Given the description of an element on the screen output the (x, y) to click on. 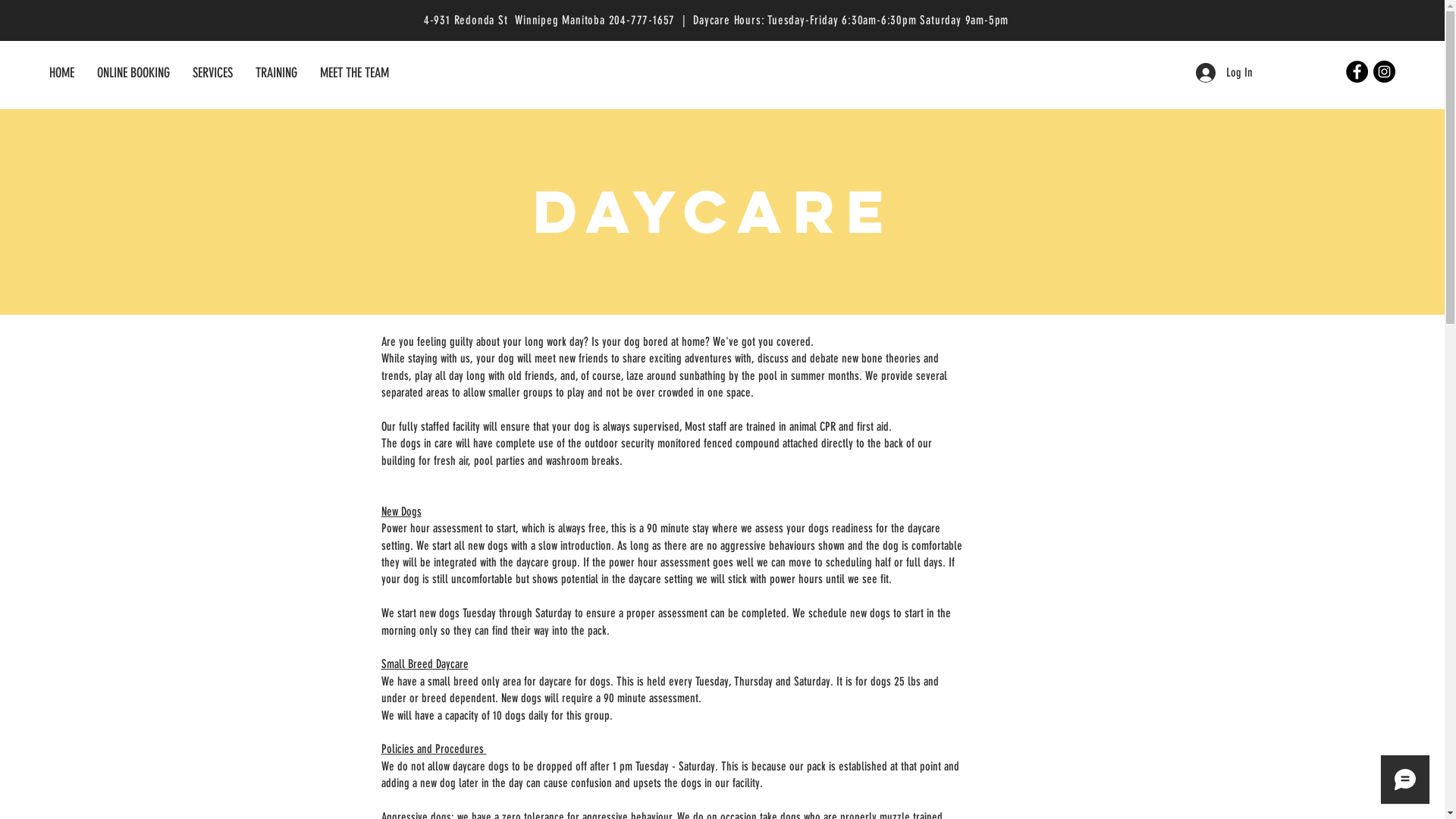
HOME Element type: text (61, 72)
MEET THE TEAM Element type: text (354, 72)
Log In Element type: text (1224, 72)
ONLINE BOOKING Element type: text (133, 72)
